Given the description of an element on the screen output the (x, y) to click on. 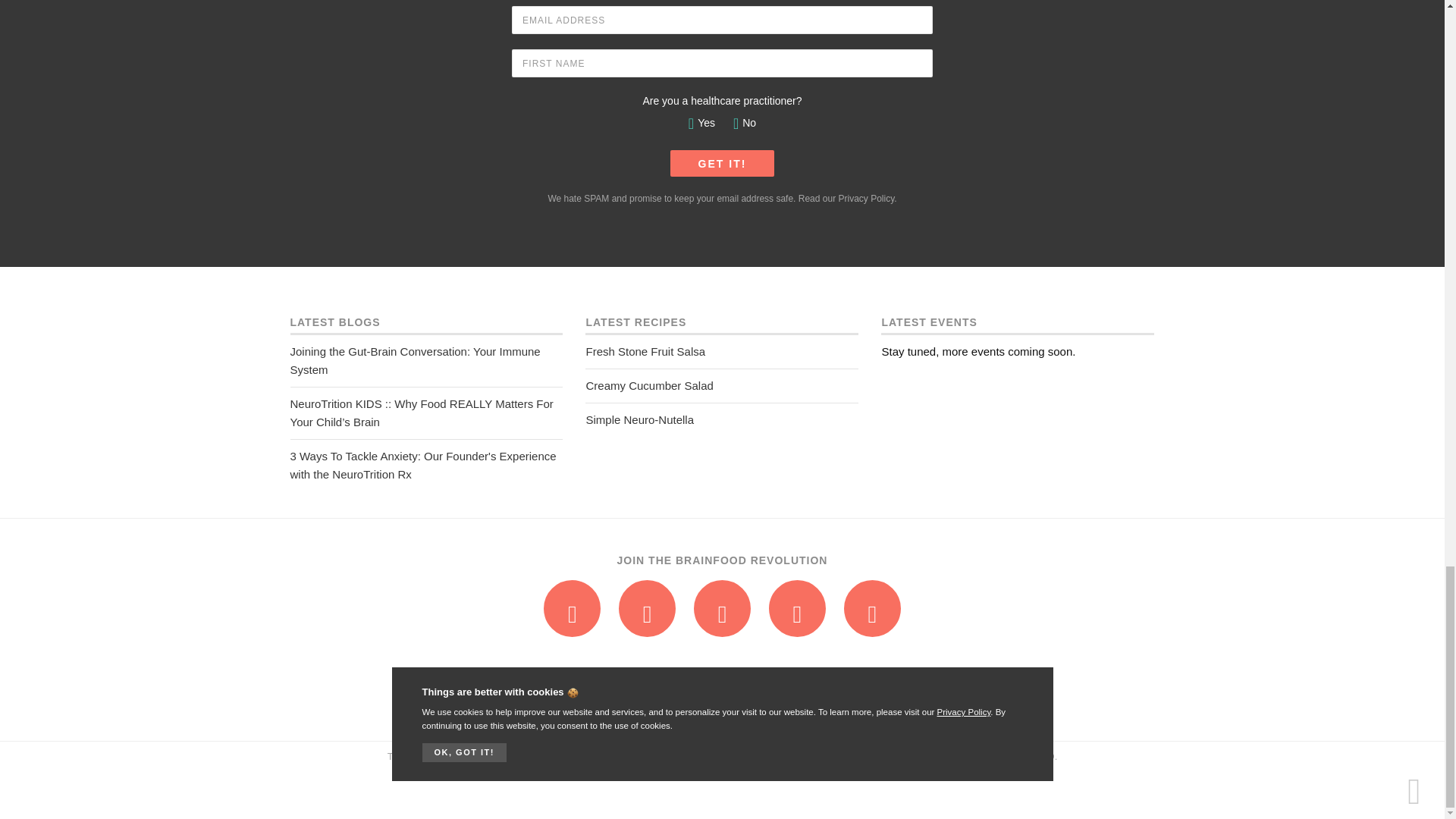
Get It! (721, 162)
Joining the Gut-Brain Conversation: Your Immune System (425, 360)
Simple Neuro-Nutella (722, 419)
Creamy Cucumber Salad (722, 385)
Get It! (721, 162)
Privacy Policy (865, 198)
Fresh Stone Fruit Salsa (722, 351)
